Given the description of an element on the screen output the (x, y) to click on. 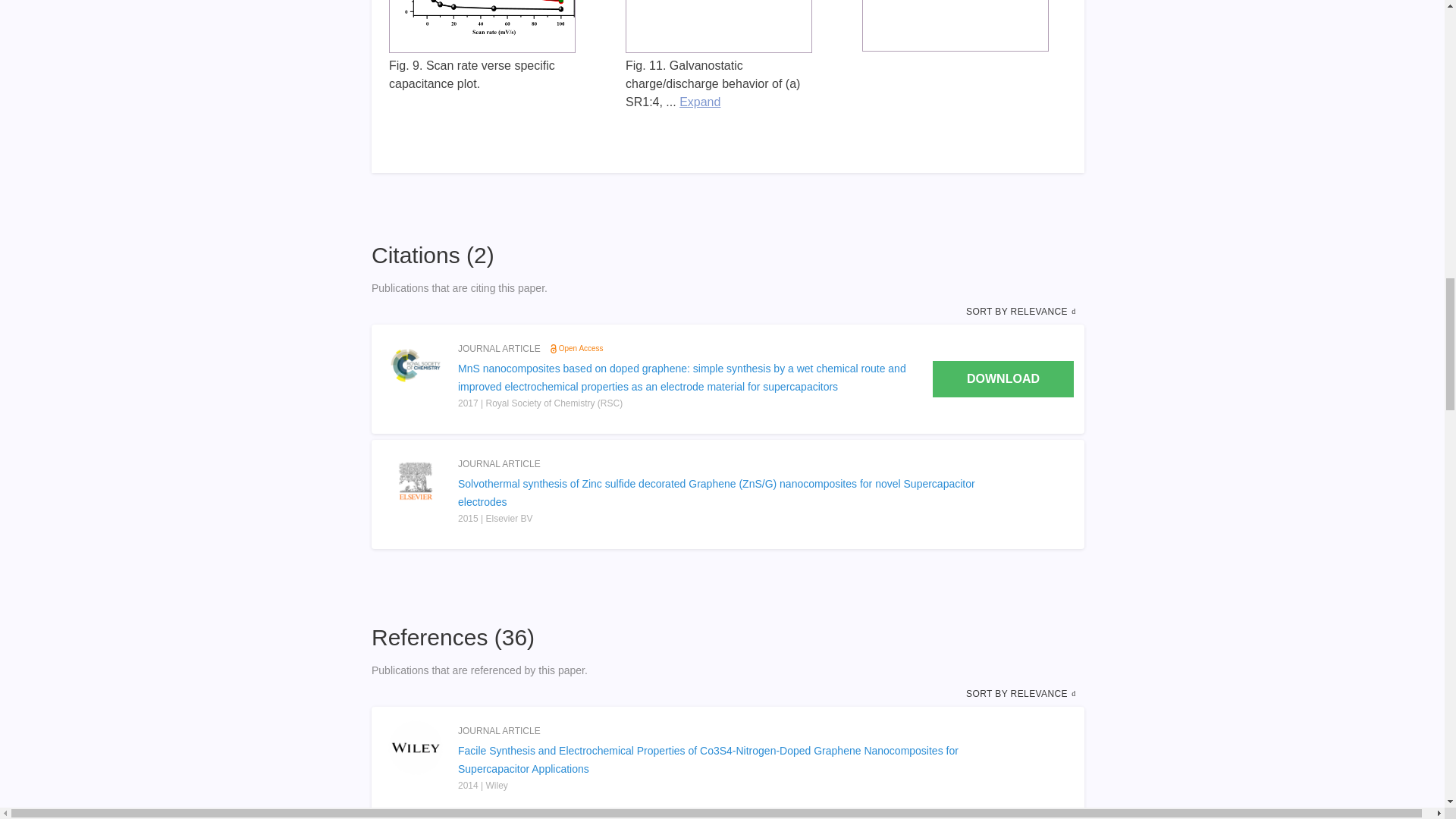
DOWNLOAD (1003, 379)
Publication cover (415, 365)
SORT BY RELEVANCE (1022, 311)
SORT BY RELEVANCE (1022, 694)
Publication cover (415, 747)
Publication cover (415, 480)
